Given the description of an element on the screen output the (x, y) to click on. 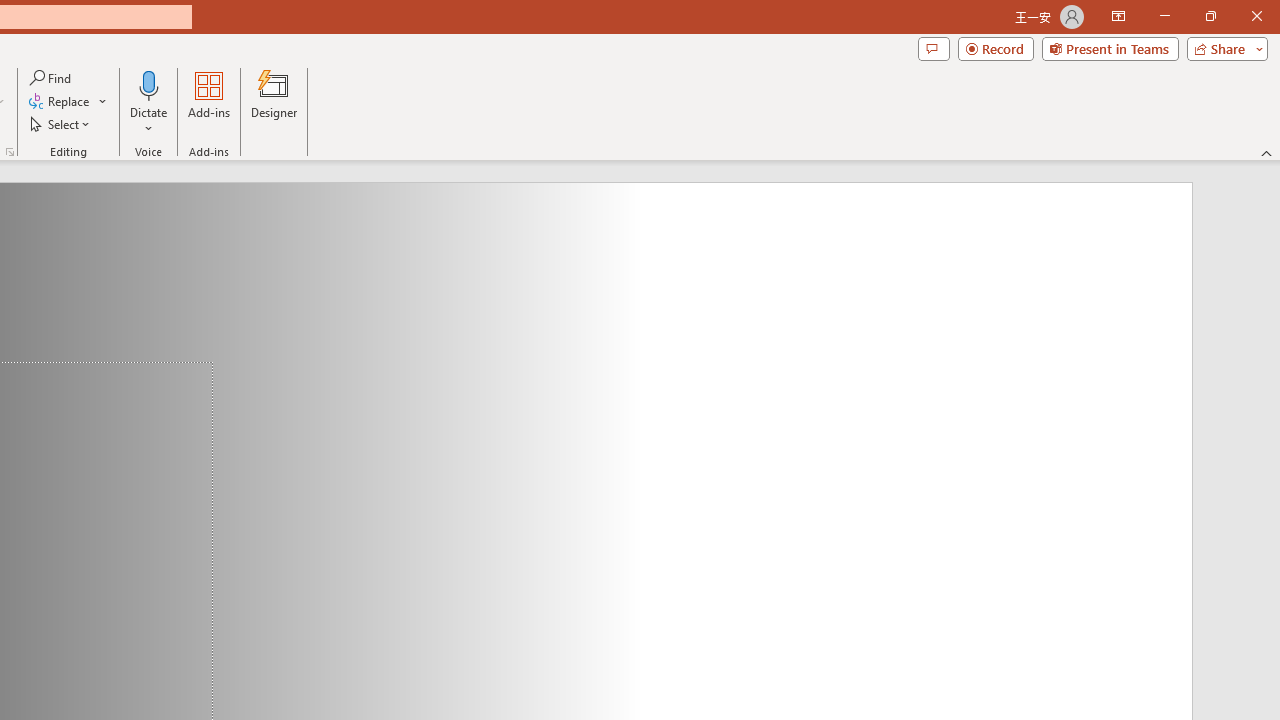
Select (61, 124)
Format Object... (9, 151)
